Given the description of an element on the screen output the (x, y) to click on. 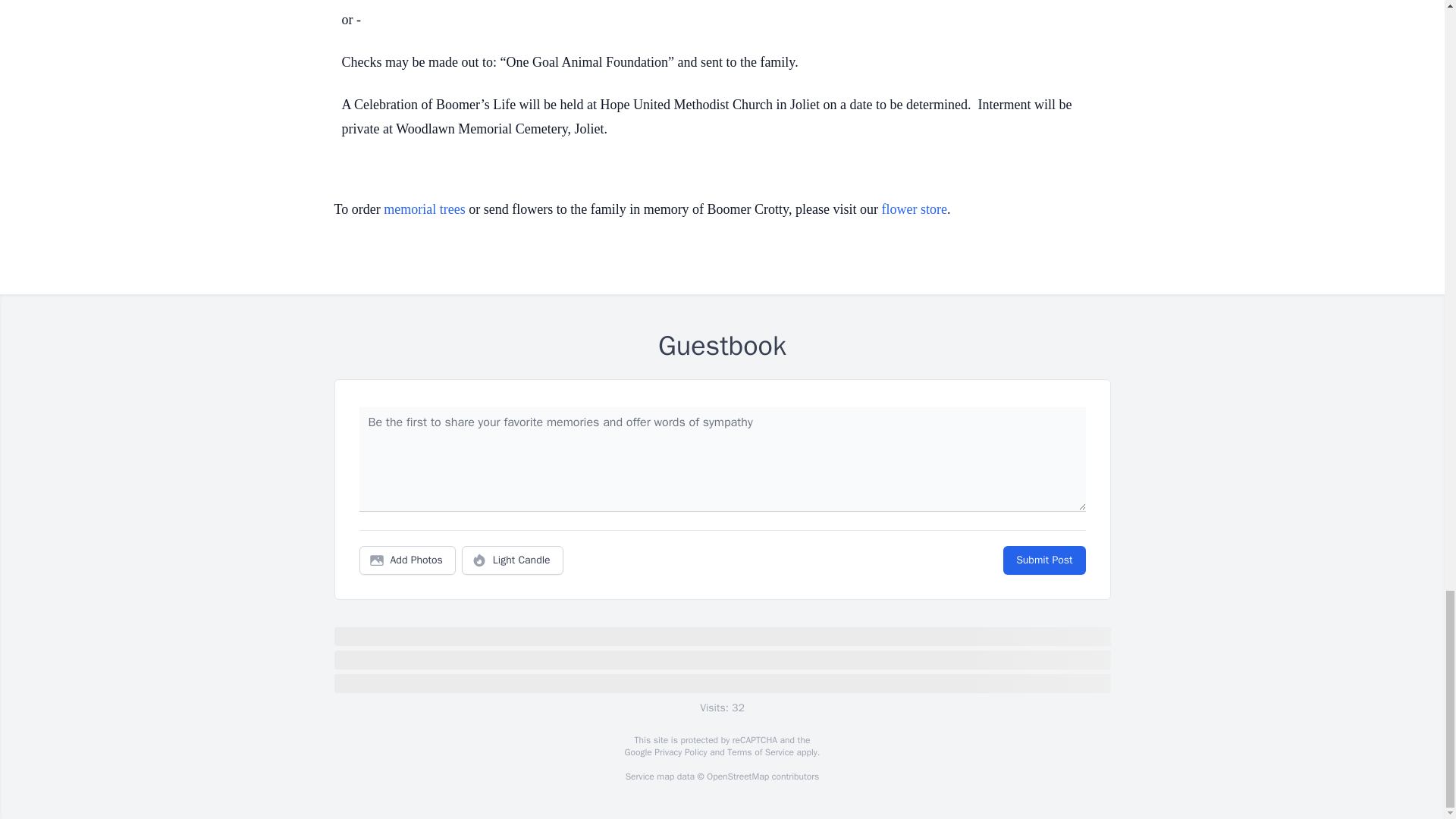
Submit Post (1043, 560)
OpenStreetMap (737, 776)
Terms of Service (759, 752)
Add Photos (407, 560)
flower store (913, 209)
Light Candle (512, 560)
memorial trees (424, 209)
Privacy Policy (679, 752)
